Given the description of an element on the screen output the (x, y) to click on. 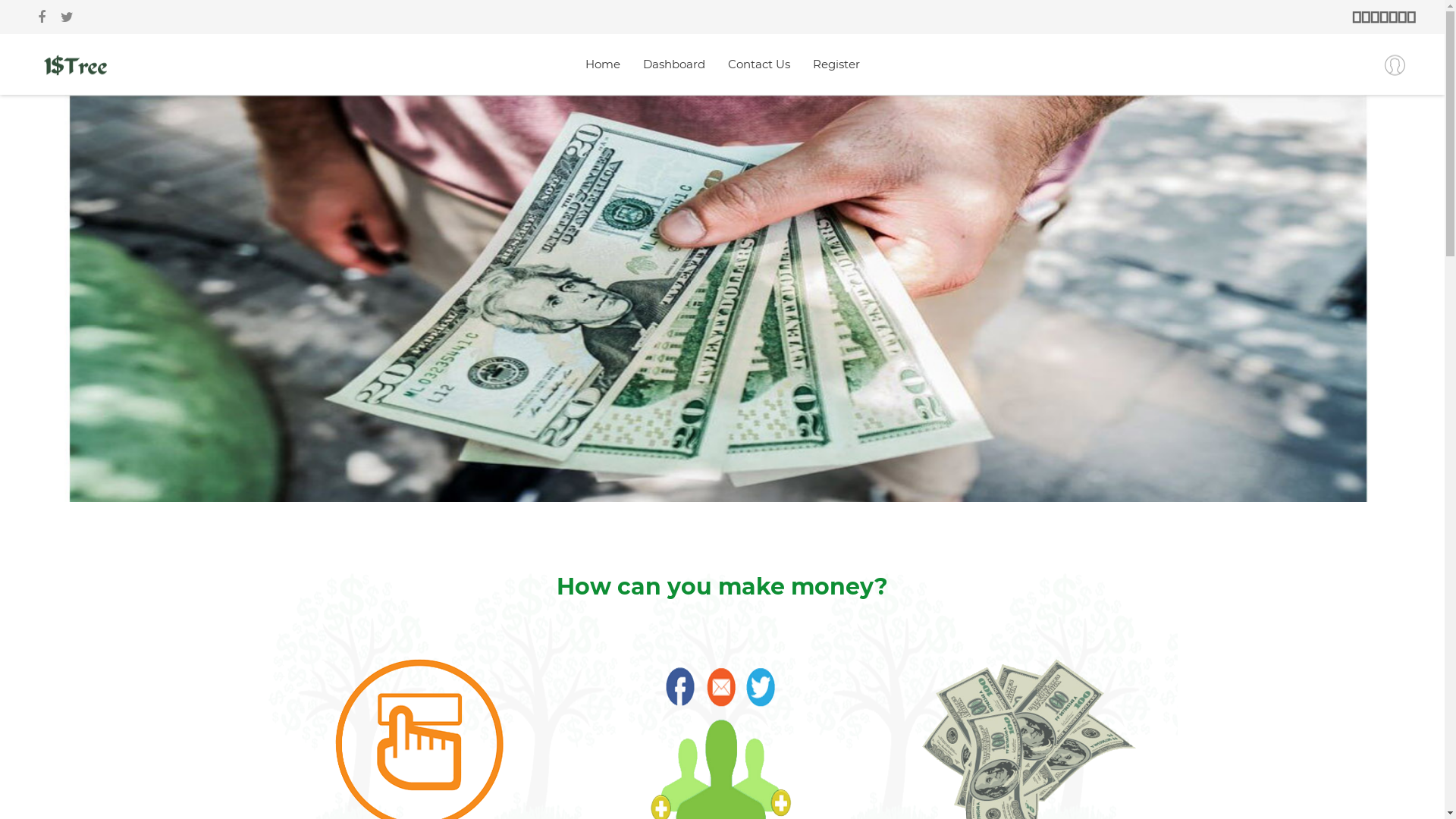
My Account Element type: hover (1394, 64)
Contact Us Element type: text (759, 64)
Dashboard Element type: text (674, 64)
Register Element type: text (835, 64)
Home Element type: text (602, 64)
